Given the description of an element on the screen output the (x, y) to click on. 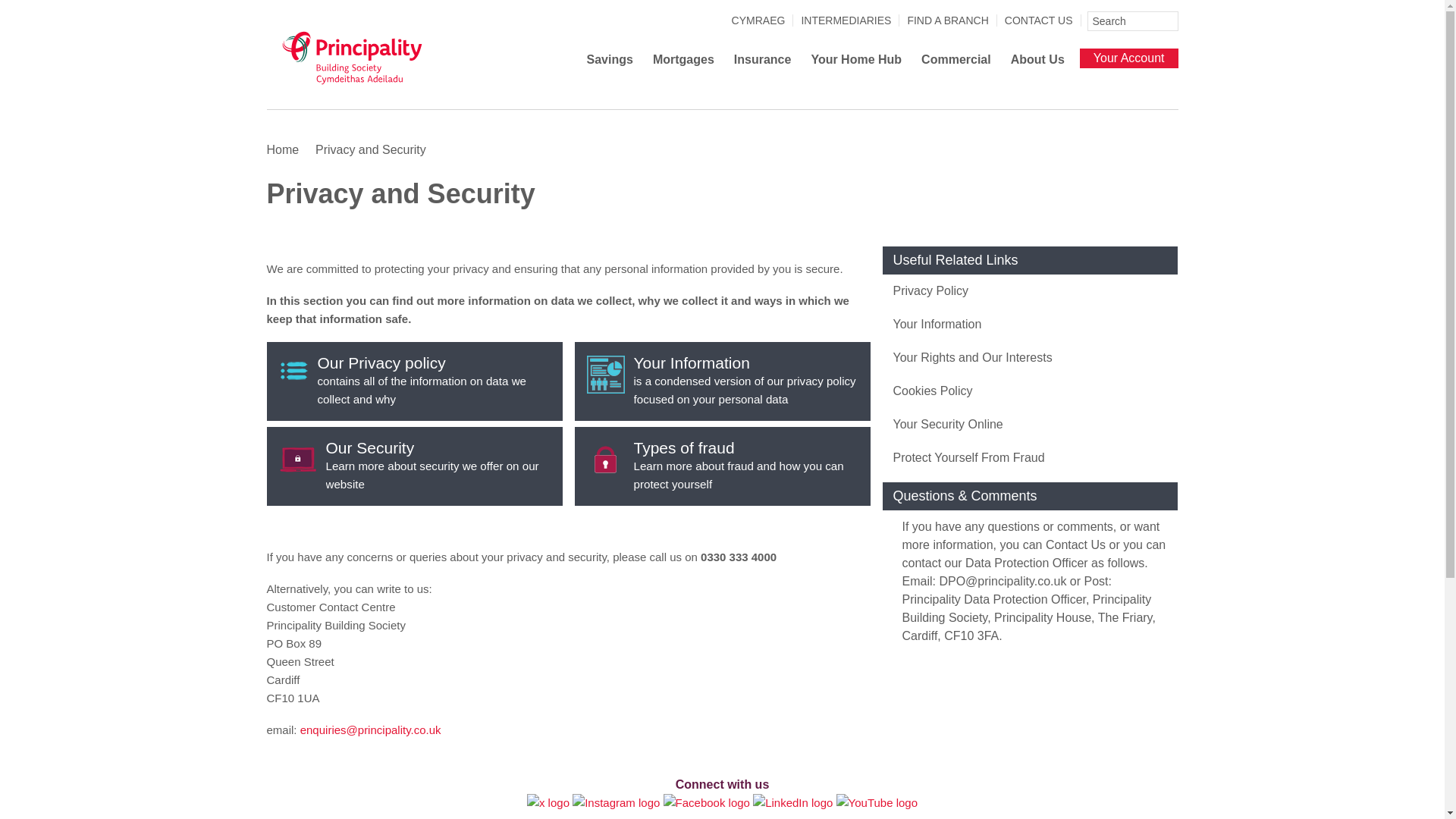
This links to an external website (548, 802)
This links to an external website (617, 802)
CONTACT US (1039, 20)
FIND A BRANCH (947, 20)
INTERMEDIARIES (846, 20)
This links to an external website (708, 802)
CYMRAEG (758, 20)
Search (1168, 21)
This links to an external website (792, 802)
Mortgages (683, 62)
